Given the description of an element on the screen output the (x, y) to click on. 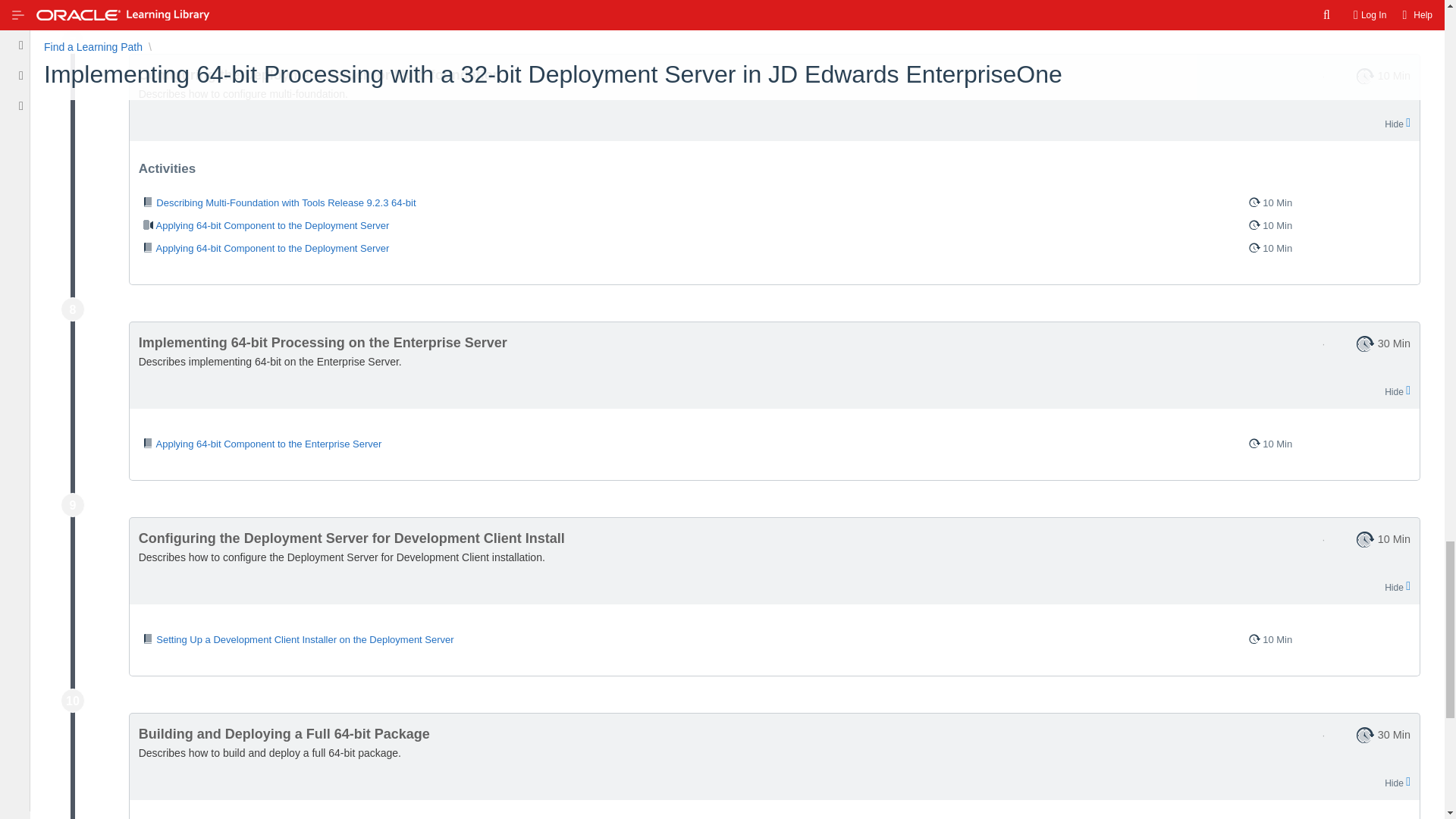
Applying 64-bit Component to the Enterprise Server 10 Min (774, 444)
Applying 64-bit Component to the Deployment Server 10 Min (774, 248)
Applying 64-bit Component to the Deployment Server 10 Min (774, 225)
